Given the description of an element on the screen output the (x, y) to click on. 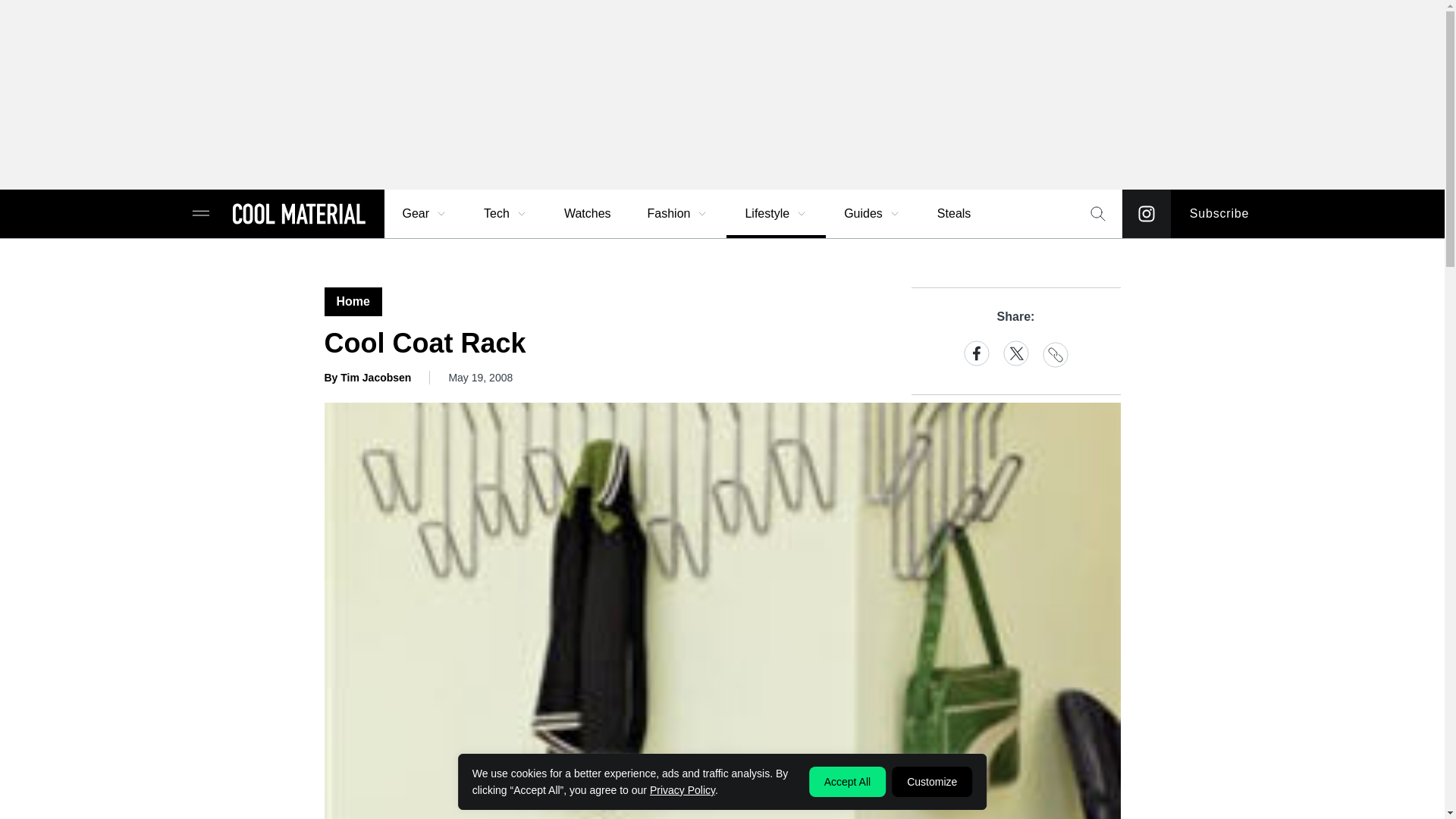
Customize (931, 781)
Tech (505, 213)
Accept All (847, 781)
Privacy Policy (681, 789)
Gear (424, 213)
Lifestyle (775, 213)
Fashion (677, 213)
Watches (587, 213)
